Given the description of an element on the screen output the (x, y) to click on. 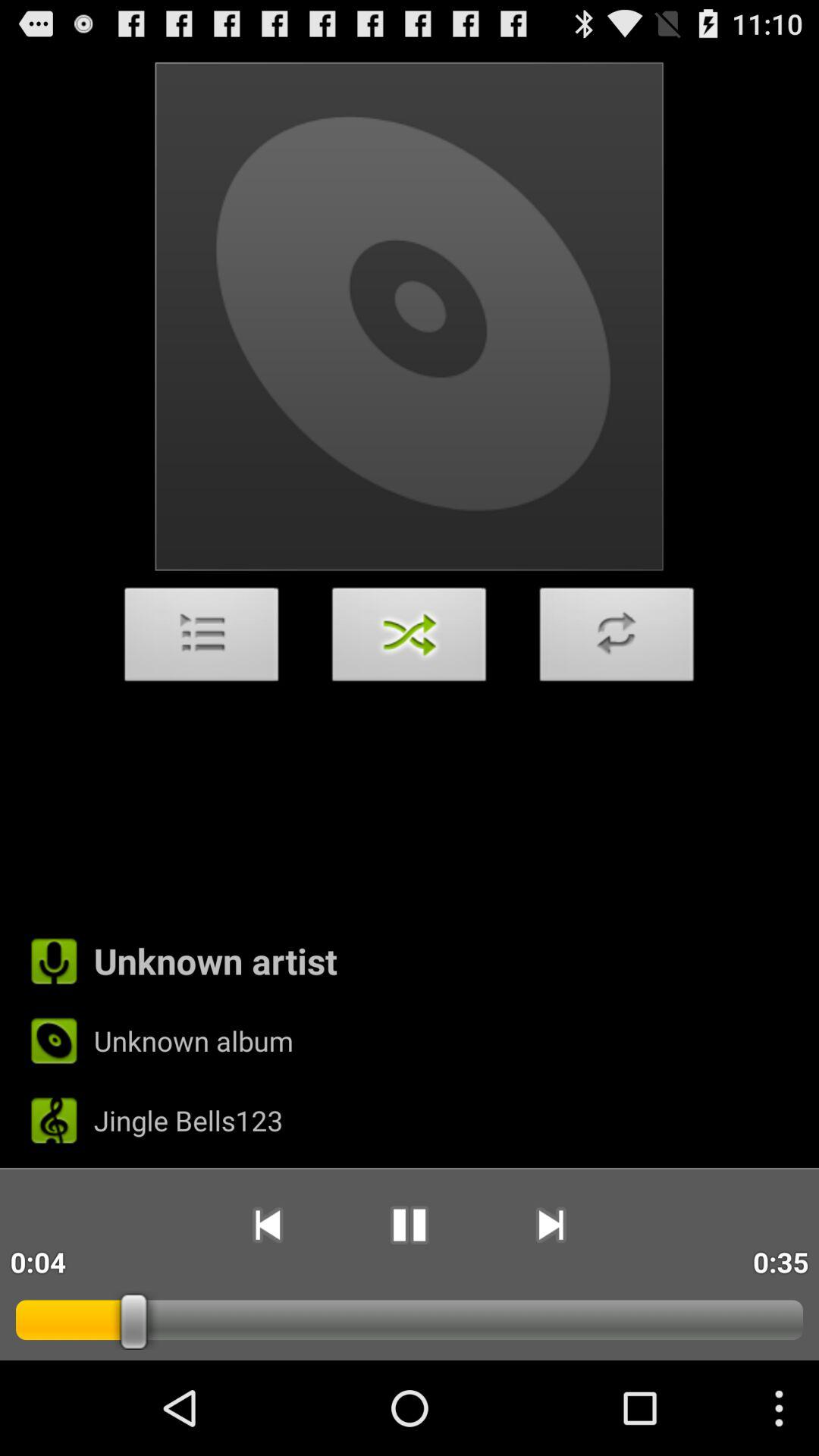
tap the item on the right (616, 638)
